Given the description of an element on the screen output the (x, y) to click on. 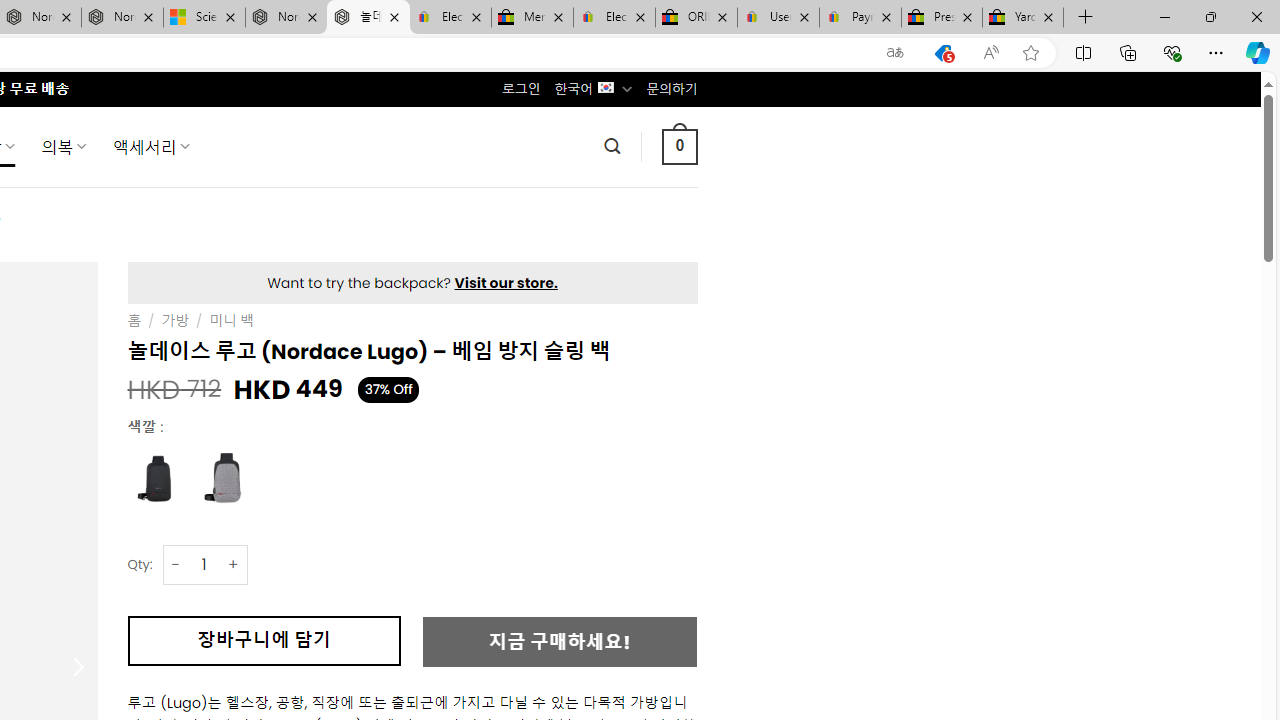
 0  (679, 146)
